Given the description of an element on the screen output the (x, y) to click on. 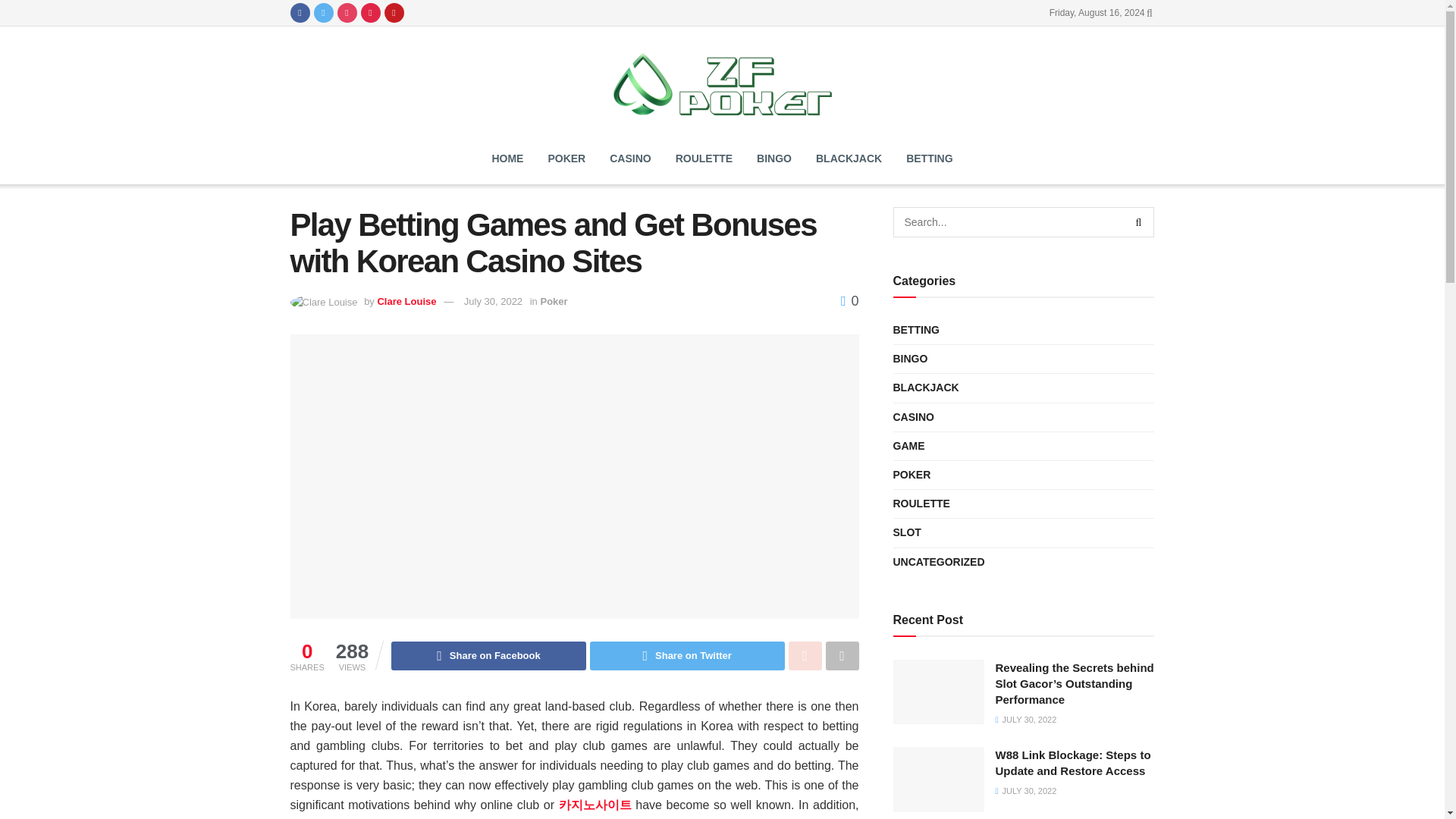
BLACKJACK (848, 158)
0 (850, 300)
POKER (565, 158)
ROULETTE (703, 158)
HOME (507, 158)
Poker (553, 301)
Share on Twitter (686, 655)
BETTING (916, 330)
Share on Facebook (488, 655)
CASINO (629, 158)
